Given the description of an element on the screen output the (x, y) to click on. 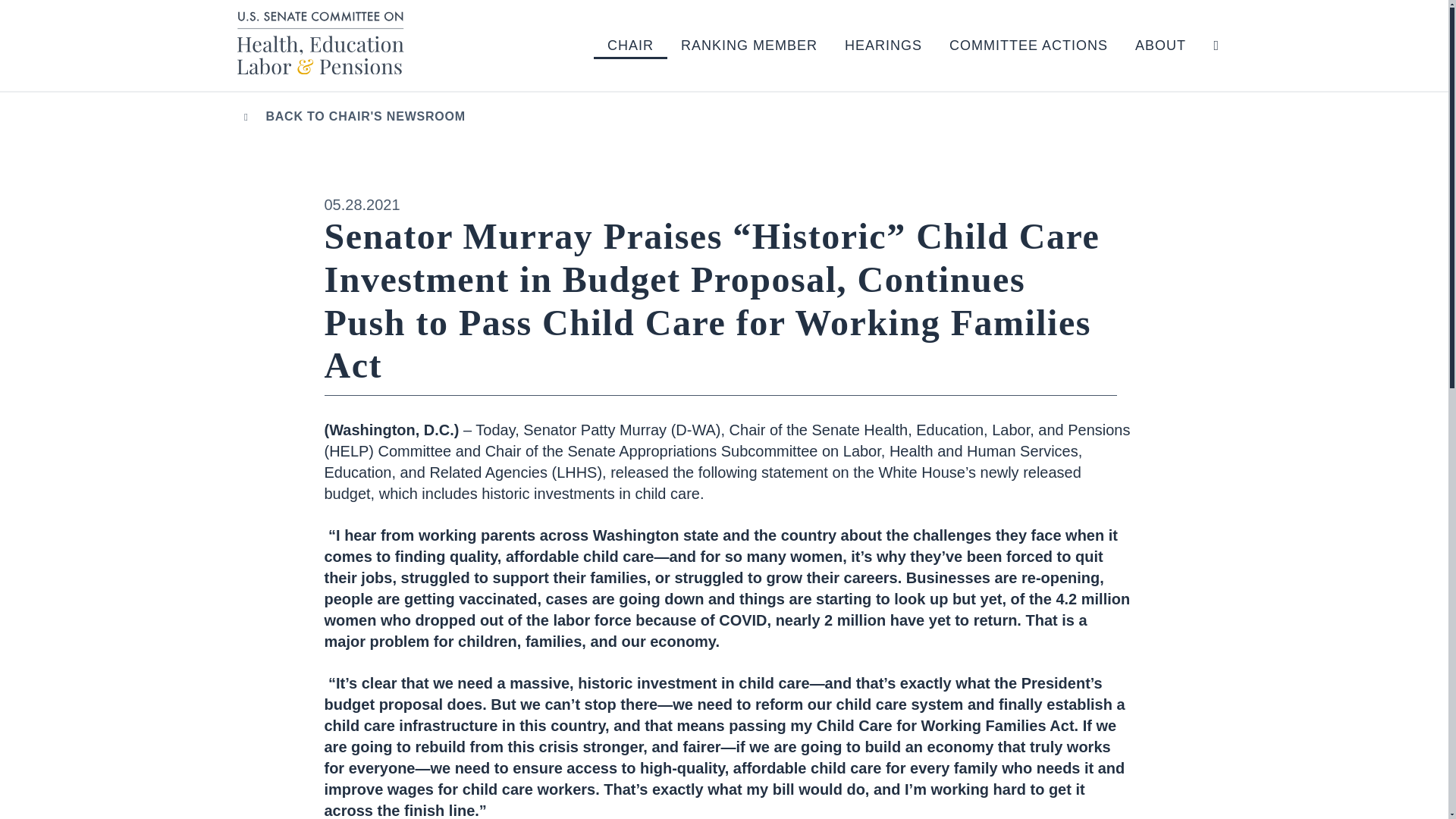
Skip to content (26, 26)
RANKING MEMBER (748, 44)
Legislation (1049, 71)
Members (1235, 71)
HEARINGS (883, 44)
Ranking Member's Newsroom (780, 71)
Chair's Newsroom (707, 71)
BACK TO CHAIR'S NEWSROOM (351, 116)
CHAIR (630, 44)
ABOUT (1160, 44)
